Given the description of an element on the screen output the (x, y) to click on. 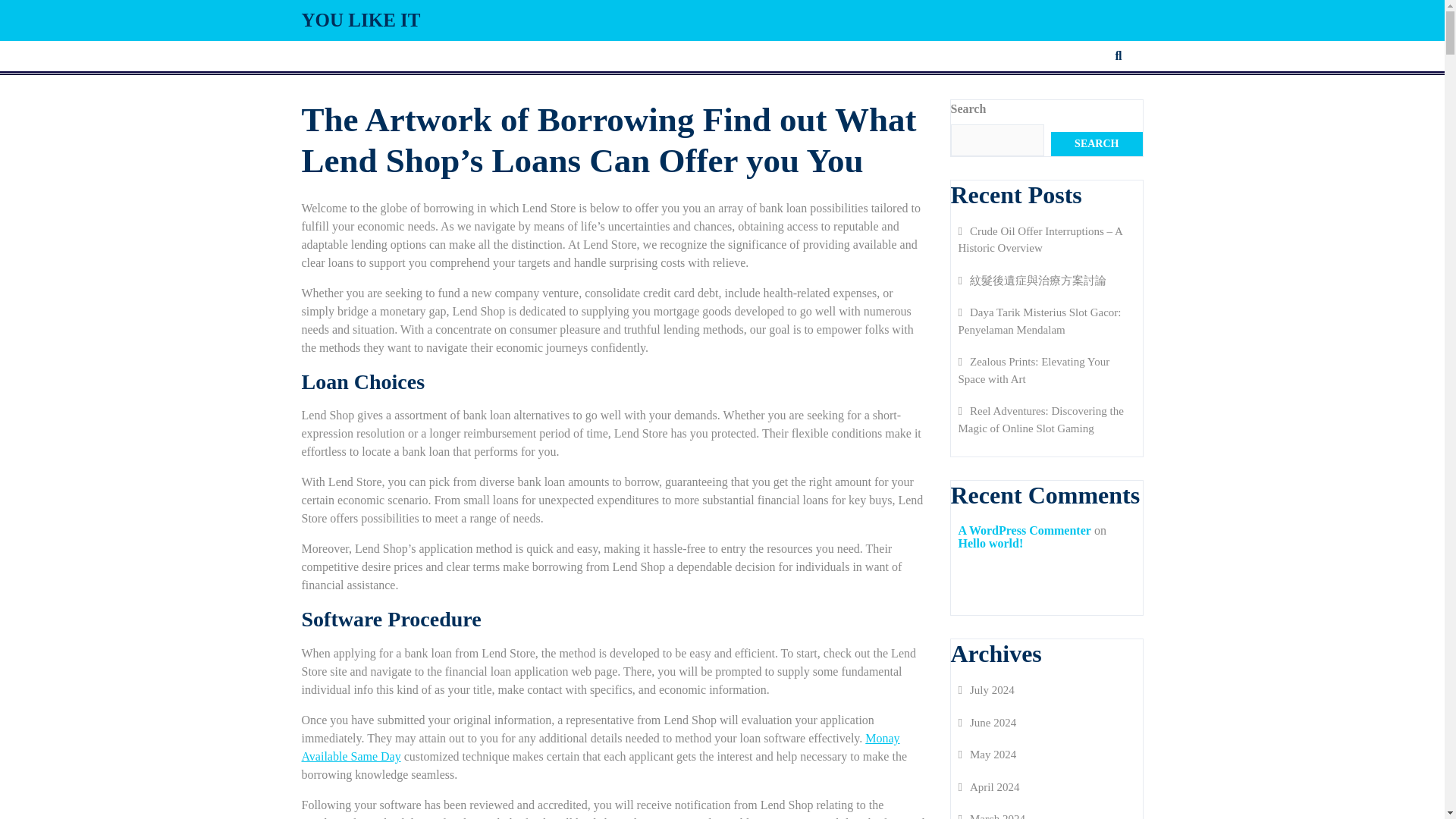
YOU LIKE IT (360, 19)
April 2024 (989, 787)
March 2024 (991, 816)
Zealous Prints: Elevating Your Space with Art (1033, 369)
Reel Adventures: Discovering the Magic of Online Slot Gaming (1041, 419)
Daya Tarik Misterius Slot Gacor: Penyelaman Mendalam (1039, 320)
June 2024 (987, 722)
A WordPress Commenter (1024, 530)
May 2024 (987, 754)
July 2024 (986, 689)
SEARCH (1096, 143)
Monay Available Same Day (600, 747)
Hello world! (990, 543)
